Given the description of an element on the screen output the (x, y) to click on. 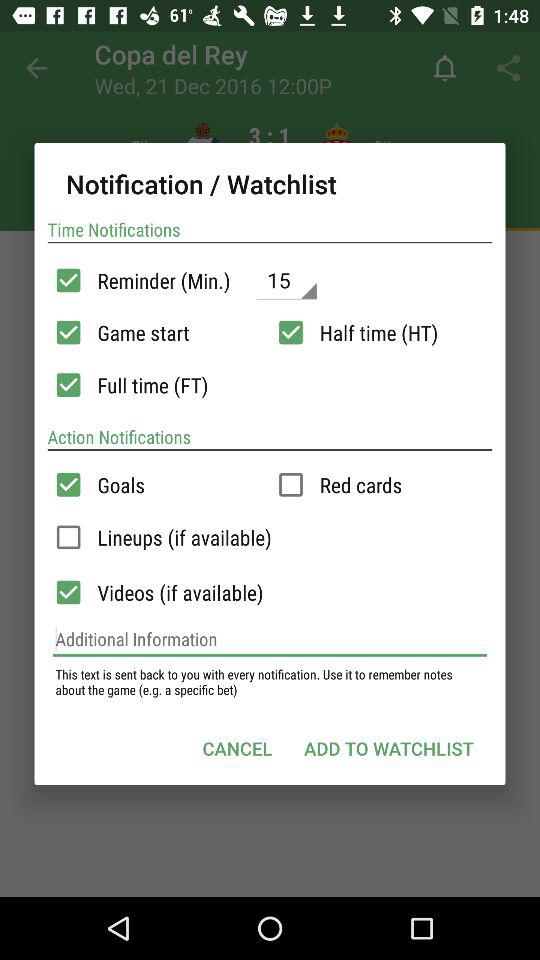
toggle video notification (68, 592)
